Given the description of an element on the screen output the (x, y) to click on. 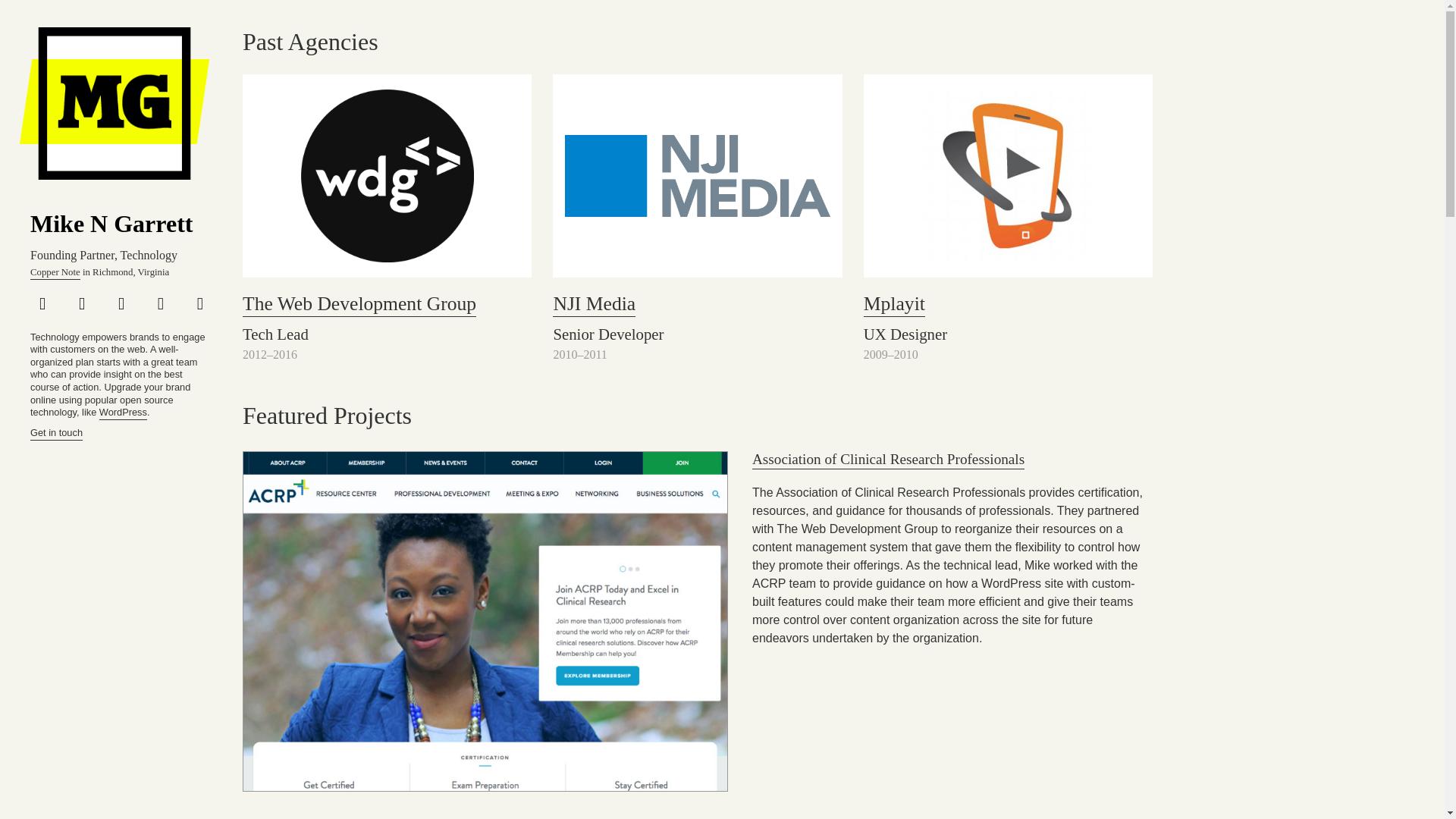
WordPress (123, 413)
Mplayit (893, 304)
Copper Note (55, 273)
Association of Clinical Research Professionals (888, 460)
NJI Media (593, 304)
The Web Development Group (359, 304)
Get in touch (56, 433)
